Given the description of an element on the screen output the (x, y) to click on. 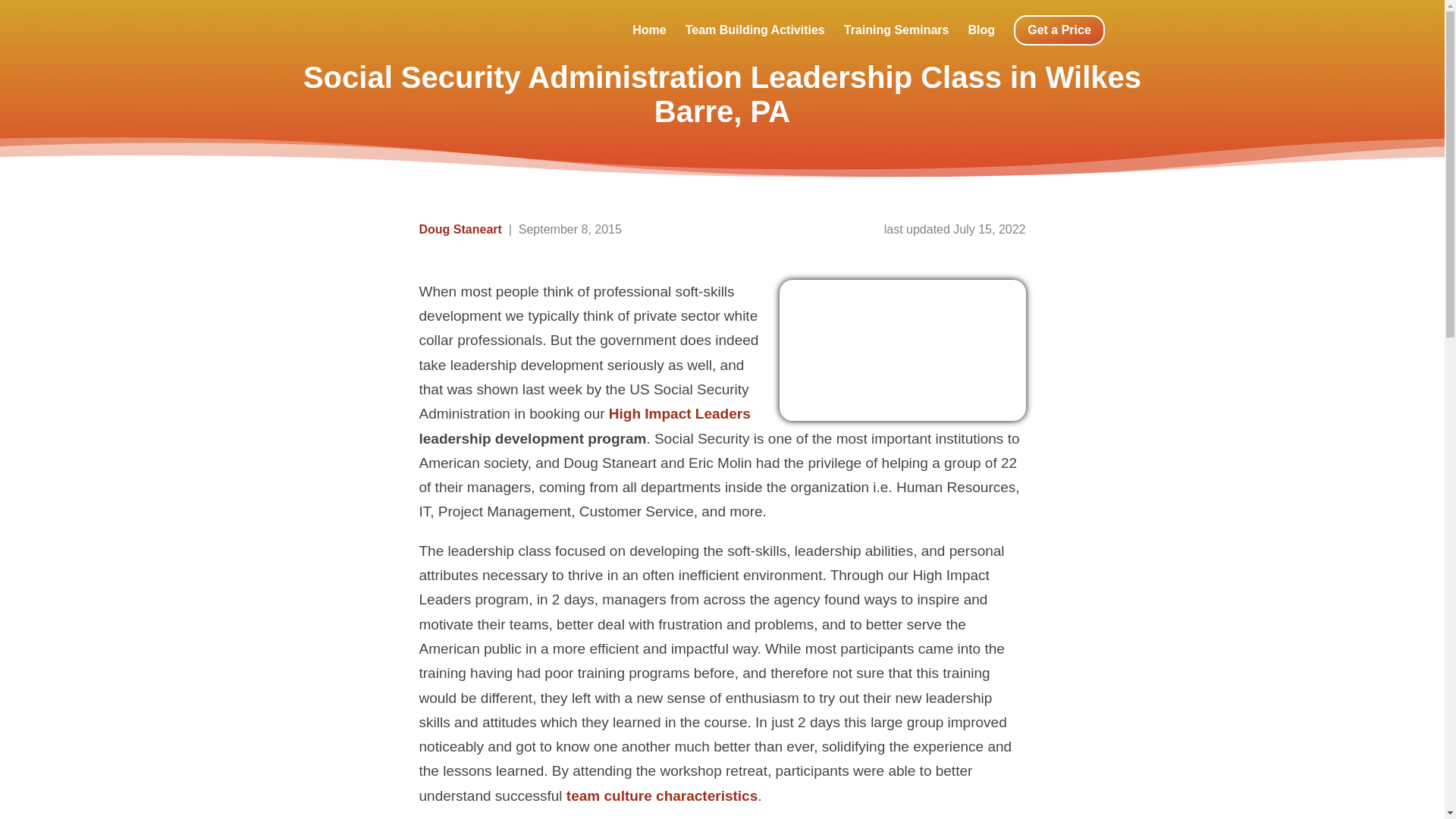
Submit (1144, 92)
team culture characteristics (661, 795)
Team Building Activities (755, 30)
Doug Staneart (459, 228)
High Impact Leaders (679, 413)
Training Seminars (896, 30)
Get a Price (1059, 30)
Team Building Activities (755, 30)
